Given the description of an element on the screen output the (x, y) to click on. 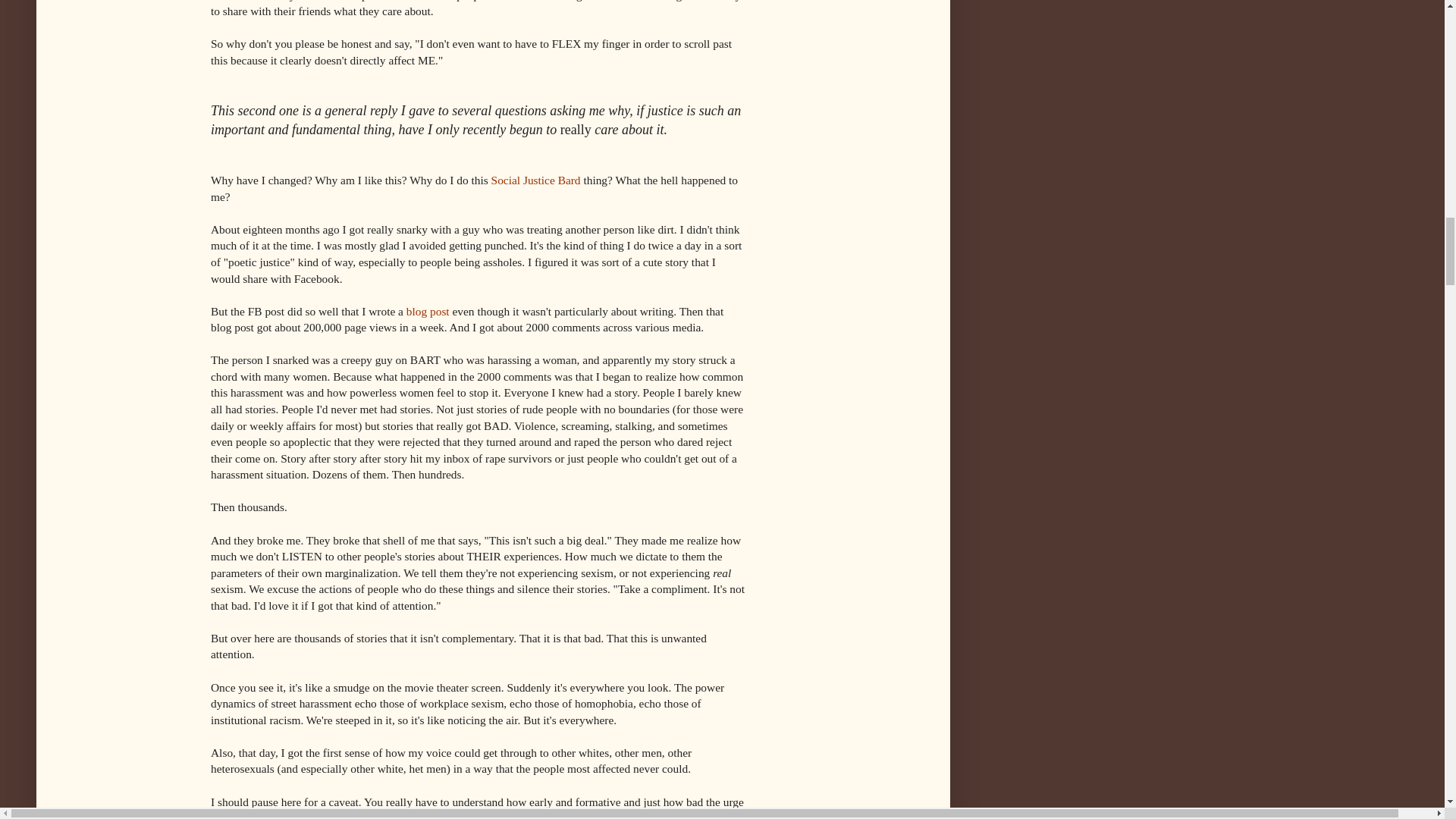
Social Justice Bard (536, 179)
blog post (427, 310)
